Given the description of an element on the screen output the (x, y) to click on. 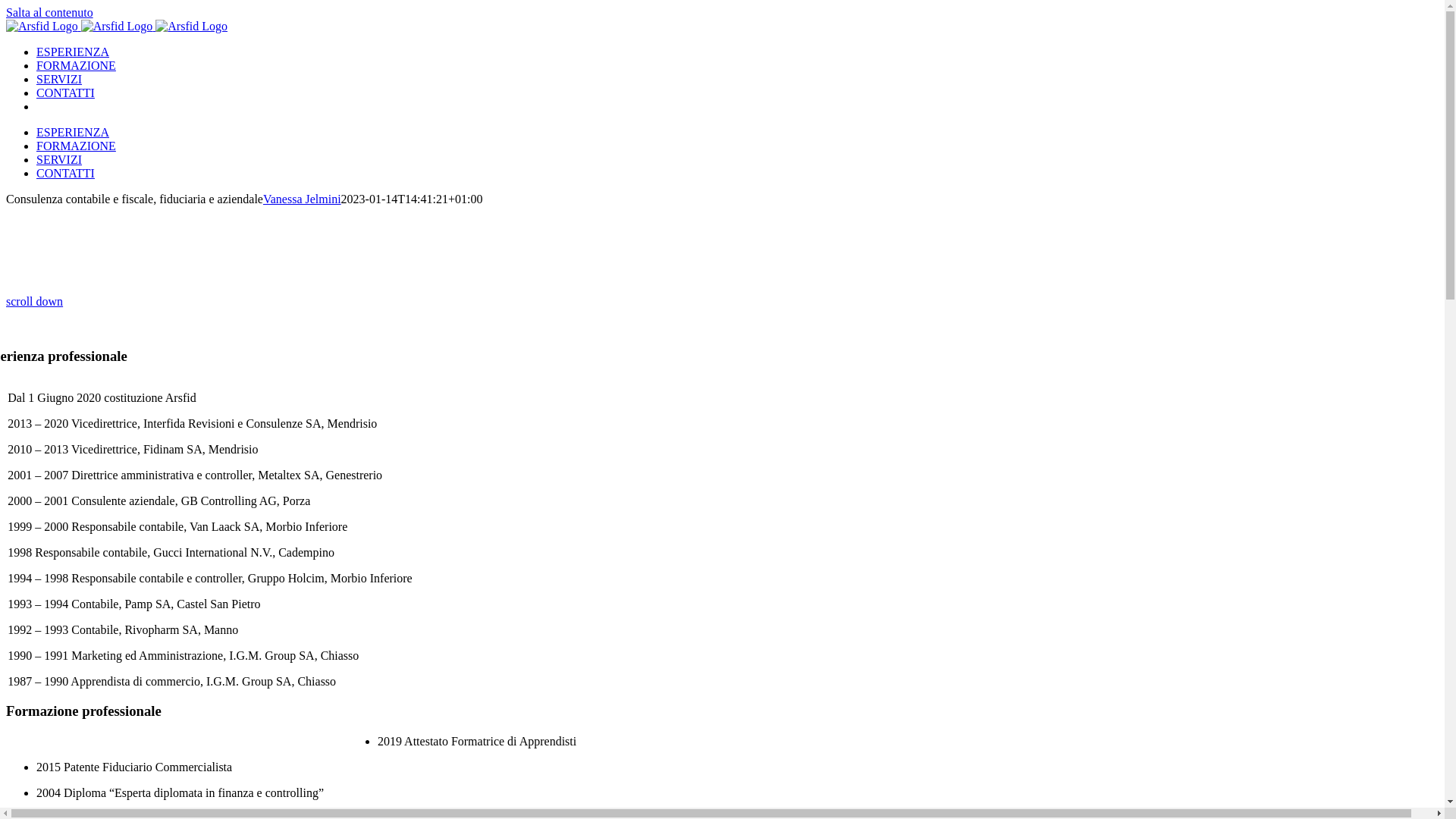
scroll down Element type: text (34, 300)
CONTATTI Element type: text (65, 92)
CONTATTI Element type: text (65, 172)
FORMAZIONE Element type: text (76, 65)
SERVIZI Element type: text (58, 78)
ESPERIENZA Element type: text (72, 51)
FORMAZIONE Element type: text (76, 145)
Salta al contenuto Element type: text (49, 12)
SERVIZI Element type: text (58, 159)
ESPERIENZA Element type: text (72, 131)
Vanessa Jelmini Element type: text (302, 198)
